Given the description of an element on the screen output the (x, y) to click on. 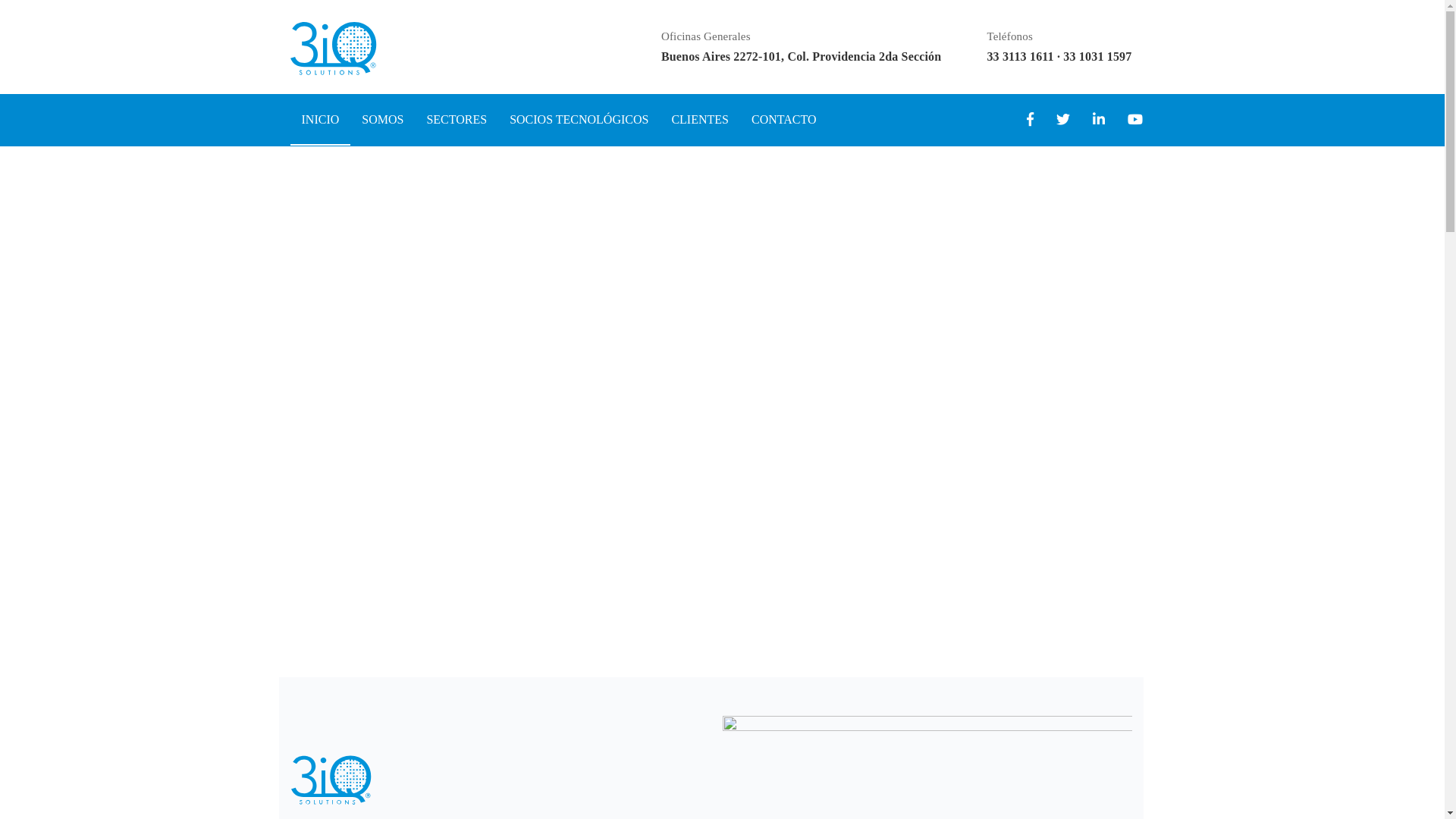
SECTORES Element type: text (456, 119)
SOMOS Element type: text (382, 119)
CLIENTES Element type: text (699, 119)
CONTACTO Element type: text (784, 119)
INICIO Element type: text (319, 119)
3iQ Solutions Element type: hover (332, 46)
